Given the description of an element on the screen output the (x, y) to click on. 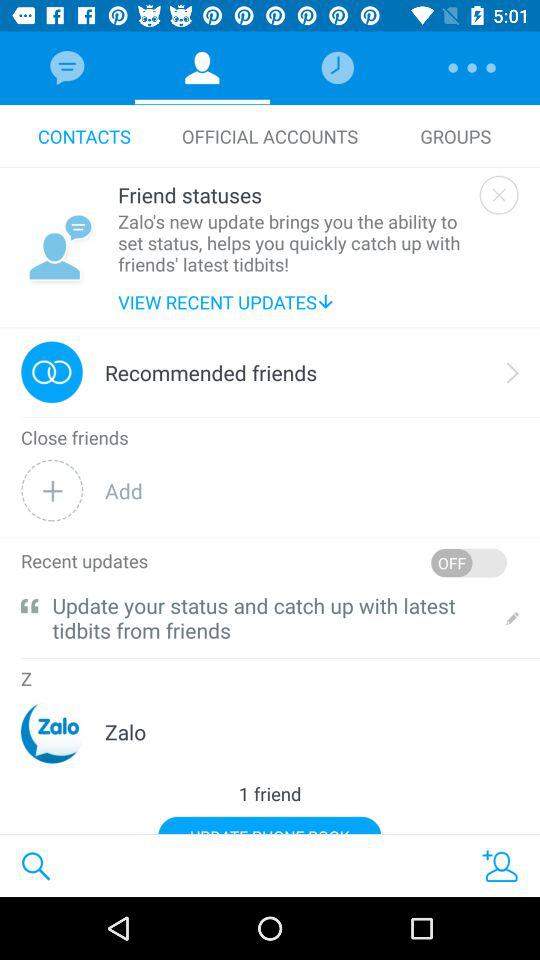
close alert (498, 194)
